Given the description of an element on the screen output the (x, y) to click on. 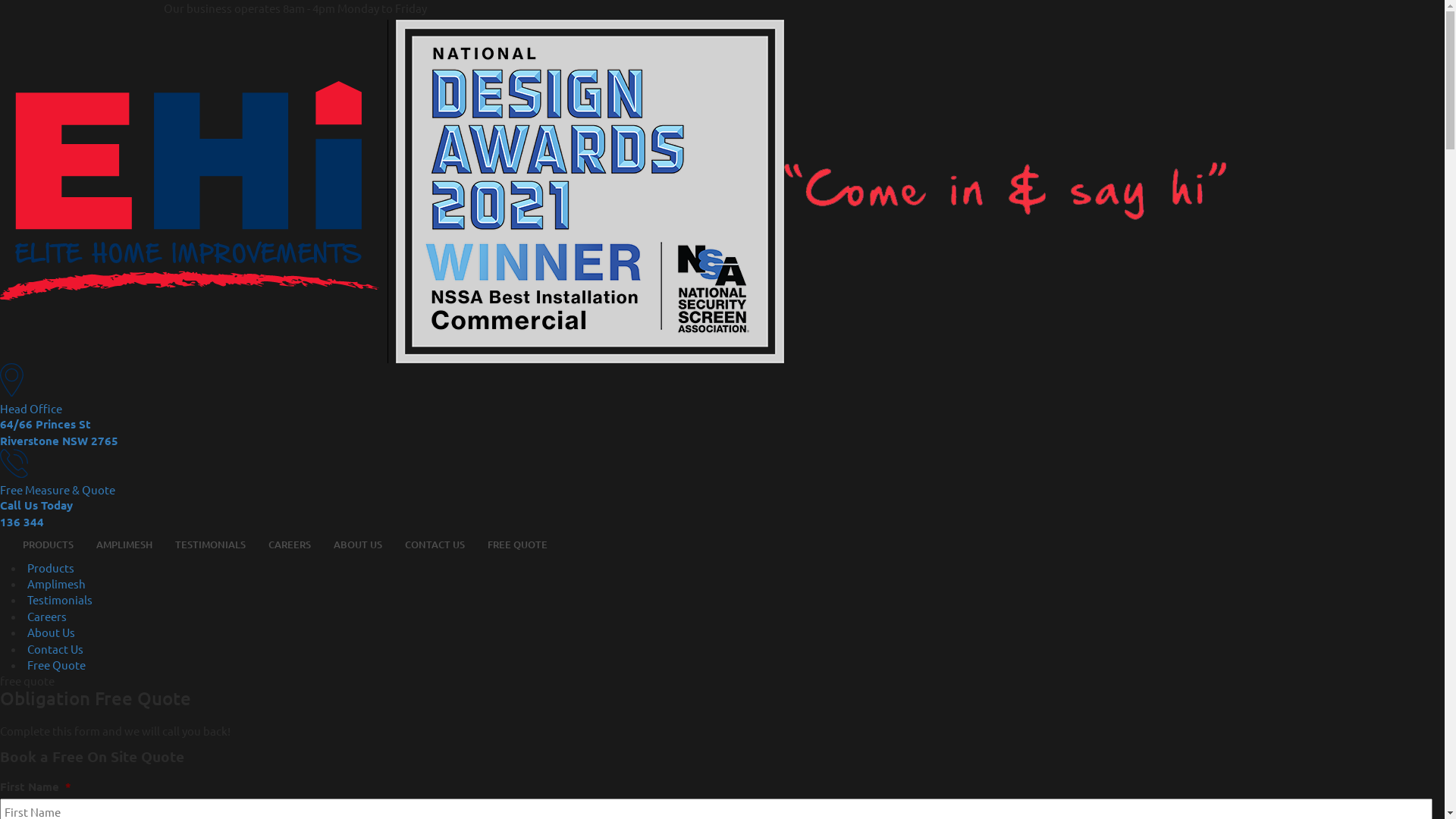
CONTACT US Element type: text (434, 544)
FREE QUOTE Element type: text (517, 544)
Careers Element type: text (46, 615)
Amplimesh Element type: text (56, 583)
ABOUT US Element type: text (357, 544)
TESTIMONIALS Element type: text (210, 544)
Free Quote Element type: text (56, 664)
AMPLIMESH Element type: text (123, 544)
Free Measure & Quote
Call Us Today
136 344 Element type: text (722, 489)
Head Office
64/66 Princes St
Riverstone NSW 2765 Element type: text (722, 405)
Contact Us Element type: text (55, 648)
Testimonials Element type: text (59, 599)
Products Element type: text (50, 567)
CAREERS Element type: text (289, 544)
PRODUCTS Element type: text (47, 544)
About Us Element type: text (51, 631)
